Given the description of an element on the screen output the (x, y) to click on. 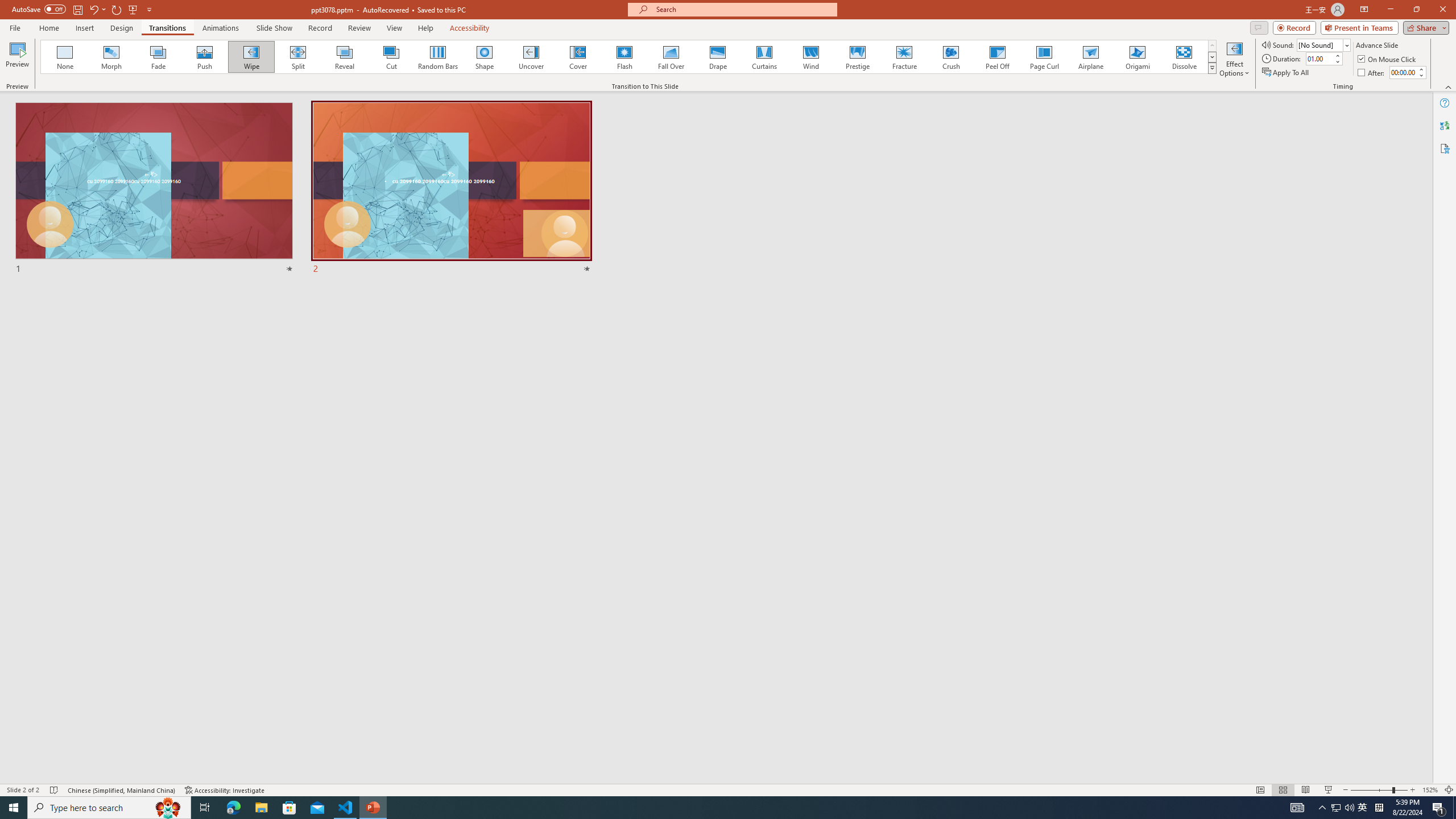
Page Curl (1043, 56)
Dissolve (1183, 56)
Zoom 152% (1430, 790)
On Mouse Click (1387, 58)
